Given the description of an element on the screen output the (x, y) to click on. 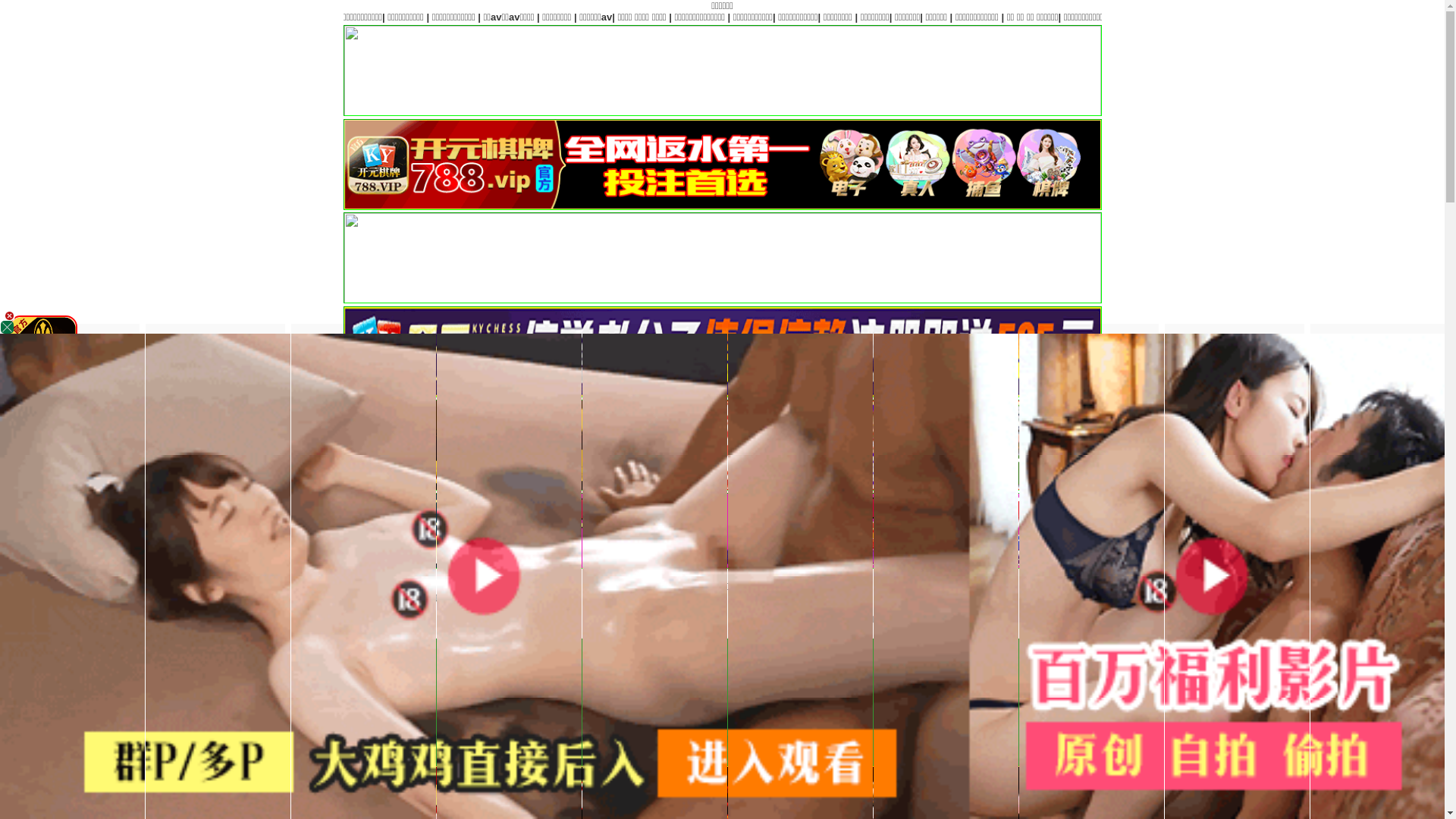
| Element type: text (1083, 16)
| Element type: text (1271, 16)
| Element type: text (924, 738)
| Element type: text (899, 738)
| Element type: text (1018, 16)
www.hufung12.com Element type: text (1134, 597)
| Element type: text (1050, 738)
www.cn3861.com Element type: text (939, 597)
| Element type: text (1317, 16)
| Element type: text (1405, 16)
| Element type: text (1044, 16)
| Element type: text (1208, 16)
| Element type: text (1010, 738)
www.mim666.com Element type: text (1034, 597)
| Element type: text (1089, 738)
| Element type: text (1169, 16)
| Element type: text (1363, 16)
www.0771zh.com Element type: text (1230, 597)
| Element type: text (1130, 16)
| Element type: text (963, 738)
